Given the description of an element on the screen output the (x, y) to click on. 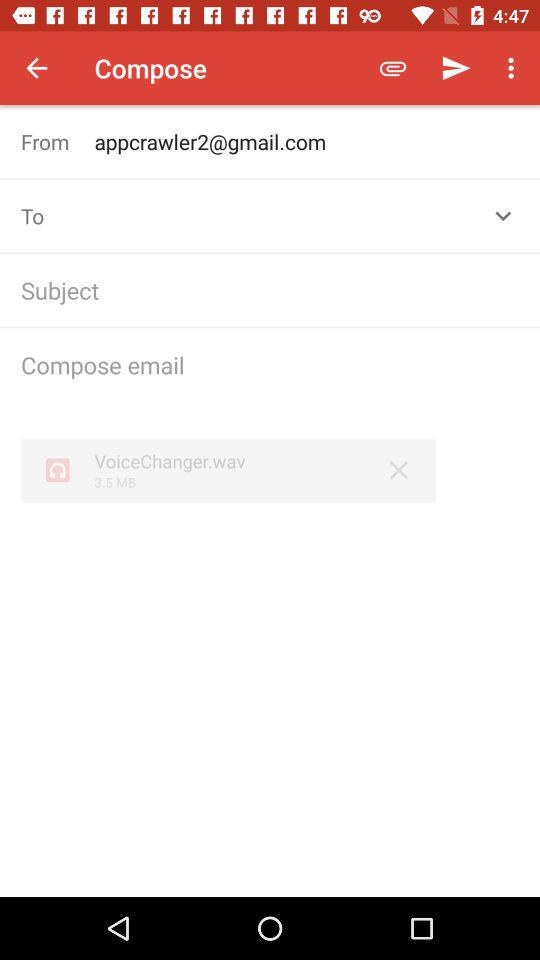
tap the icon to the right of the voicechanger.wav icon (398, 469)
